Given the description of an element on the screen output the (x, y) to click on. 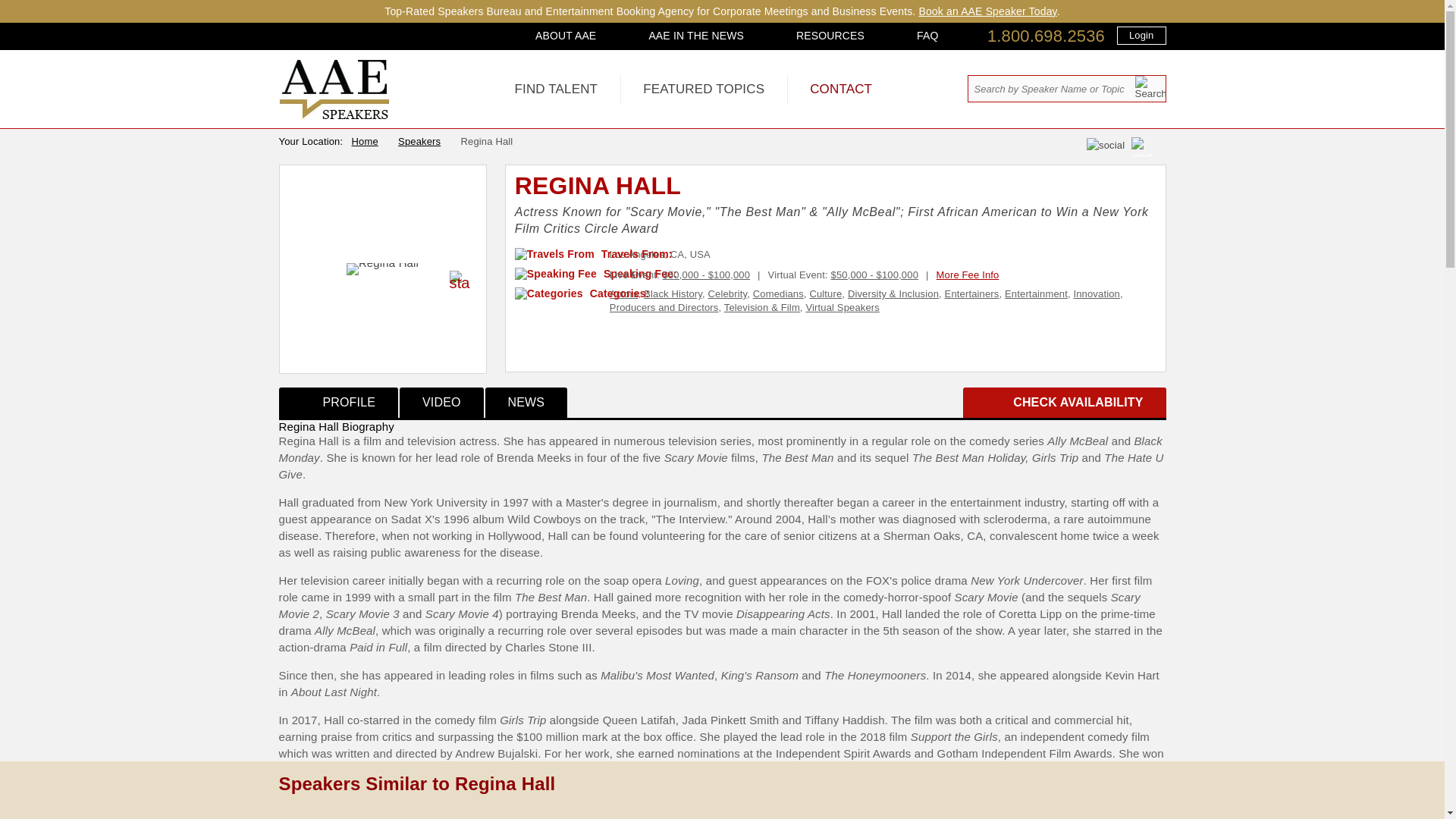
Book an AAE Speaker Today (987, 10)
RESOURCES (829, 34)
ABOUT AAE (565, 34)
AAE IN THE NEWS (695, 34)
Login (1141, 35)
FAQ (927, 34)
All American Speakers Bureau and Celebrity Booking Agency (334, 115)
Search (1150, 87)
1.800.698.2536 (1046, 35)
